Given the description of an element on the screen output the (x, y) to click on. 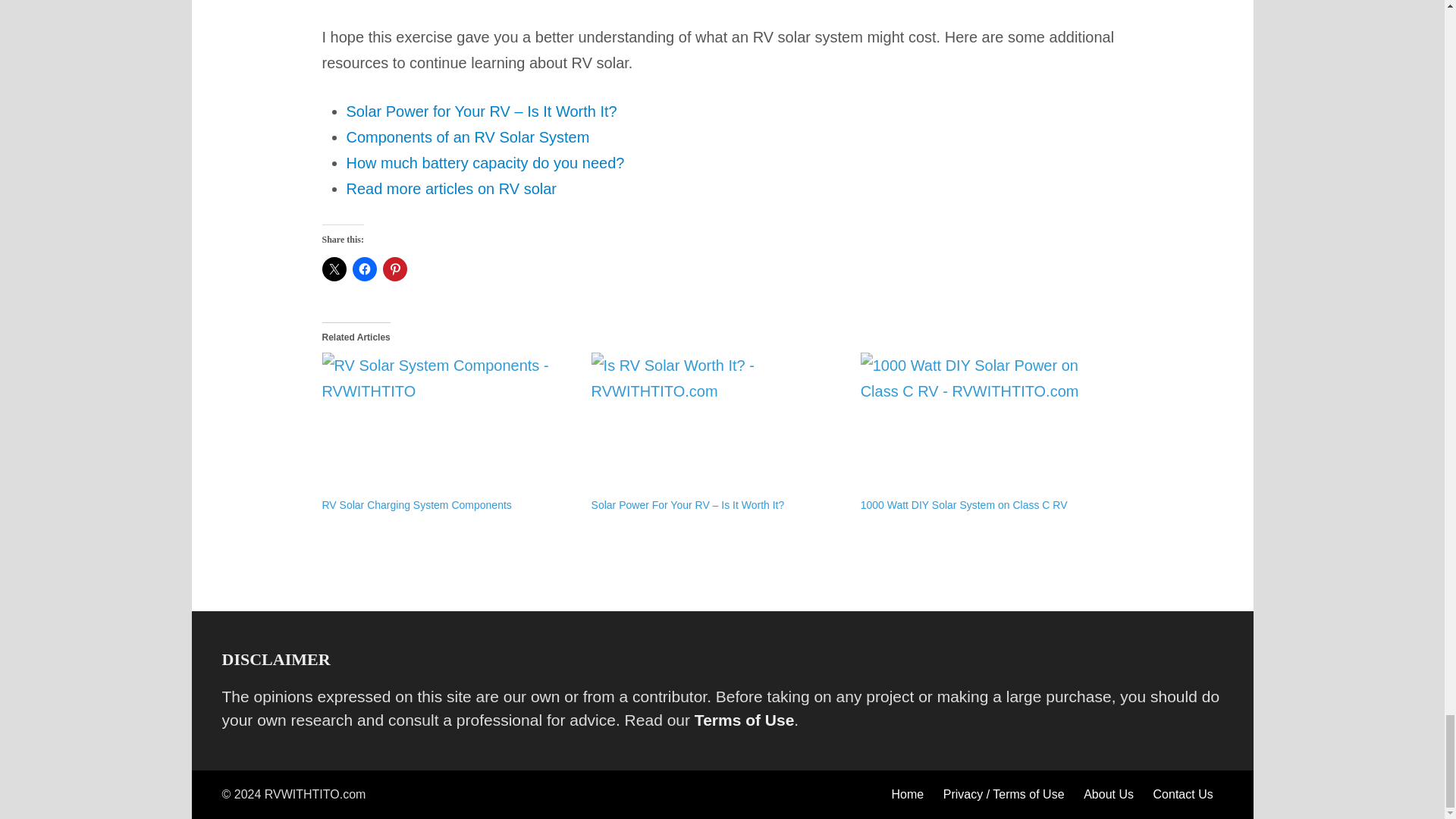
RV Solar Charging System Components (448, 424)
Click to share on X (333, 269)
Click to share on Facebook (363, 269)
RV Solar Charging System Components (416, 504)
Click to share on Pinterest (393, 269)
